Given the description of an element on the screen output the (x, y) to click on. 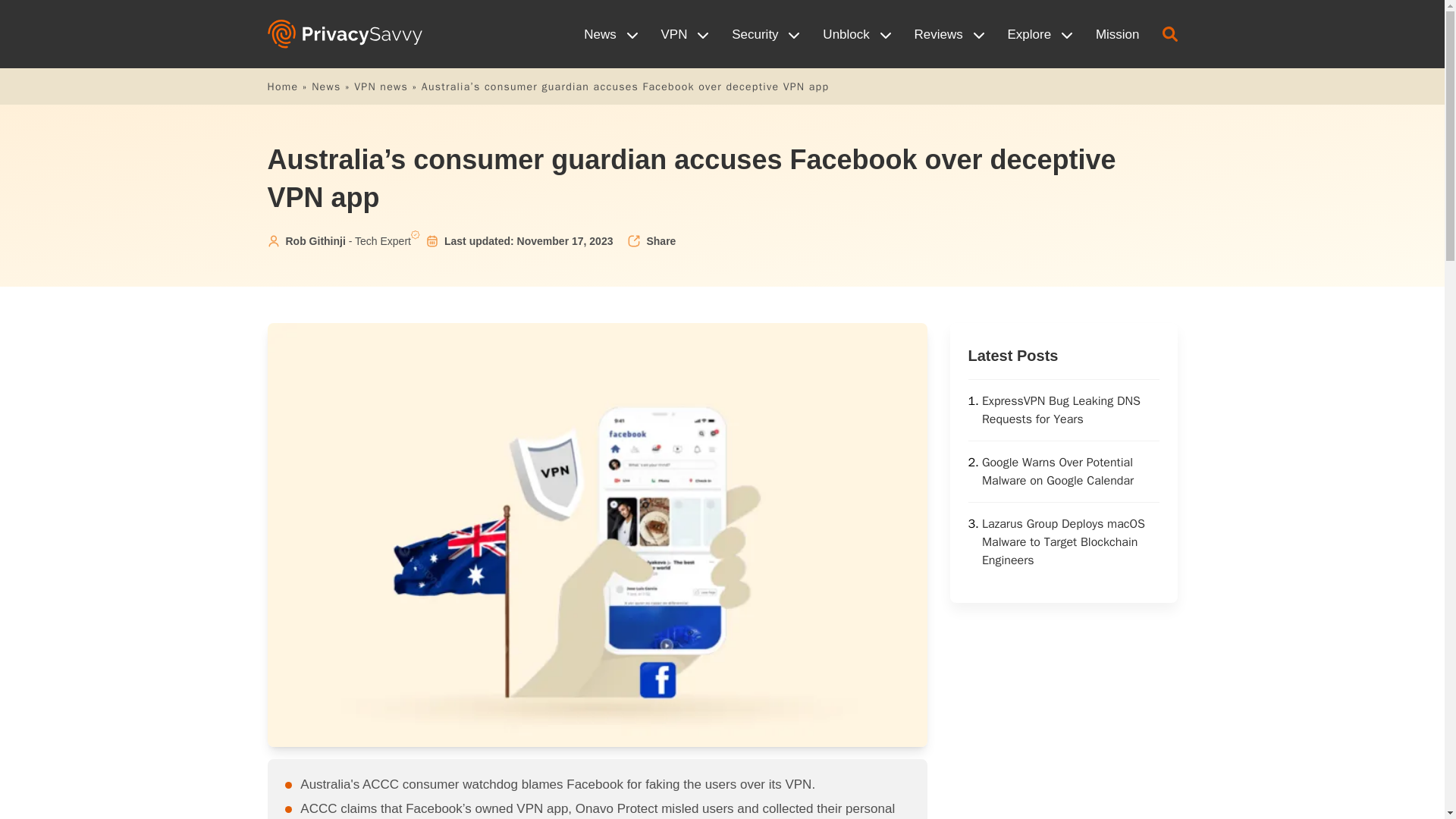
News (610, 34)
VPN (685, 34)
Unblock (856, 34)
Security (765, 34)
Reviews (949, 34)
